Given the description of an element on the screen output the (x, y) to click on. 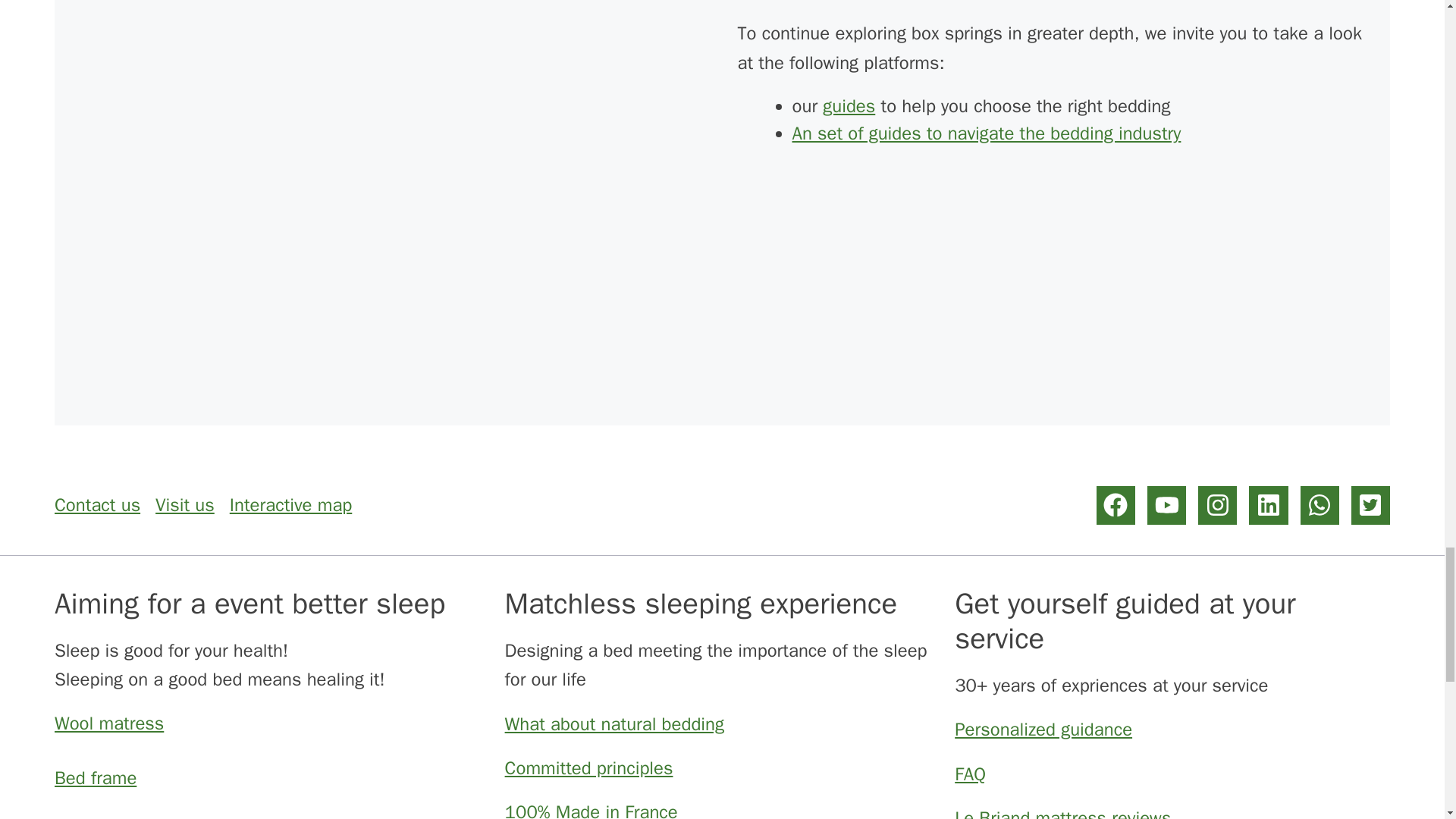
Bed frame (95, 777)
An set of guides to navigate the bedding industry (986, 133)
Contact us (97, 504)
guides (848, 106)
Visit us (184, 504)
Wool matress (109, 722)
Interactive map (291, 504)
